Given the description of an element on the screen output the (x, y) to click on. 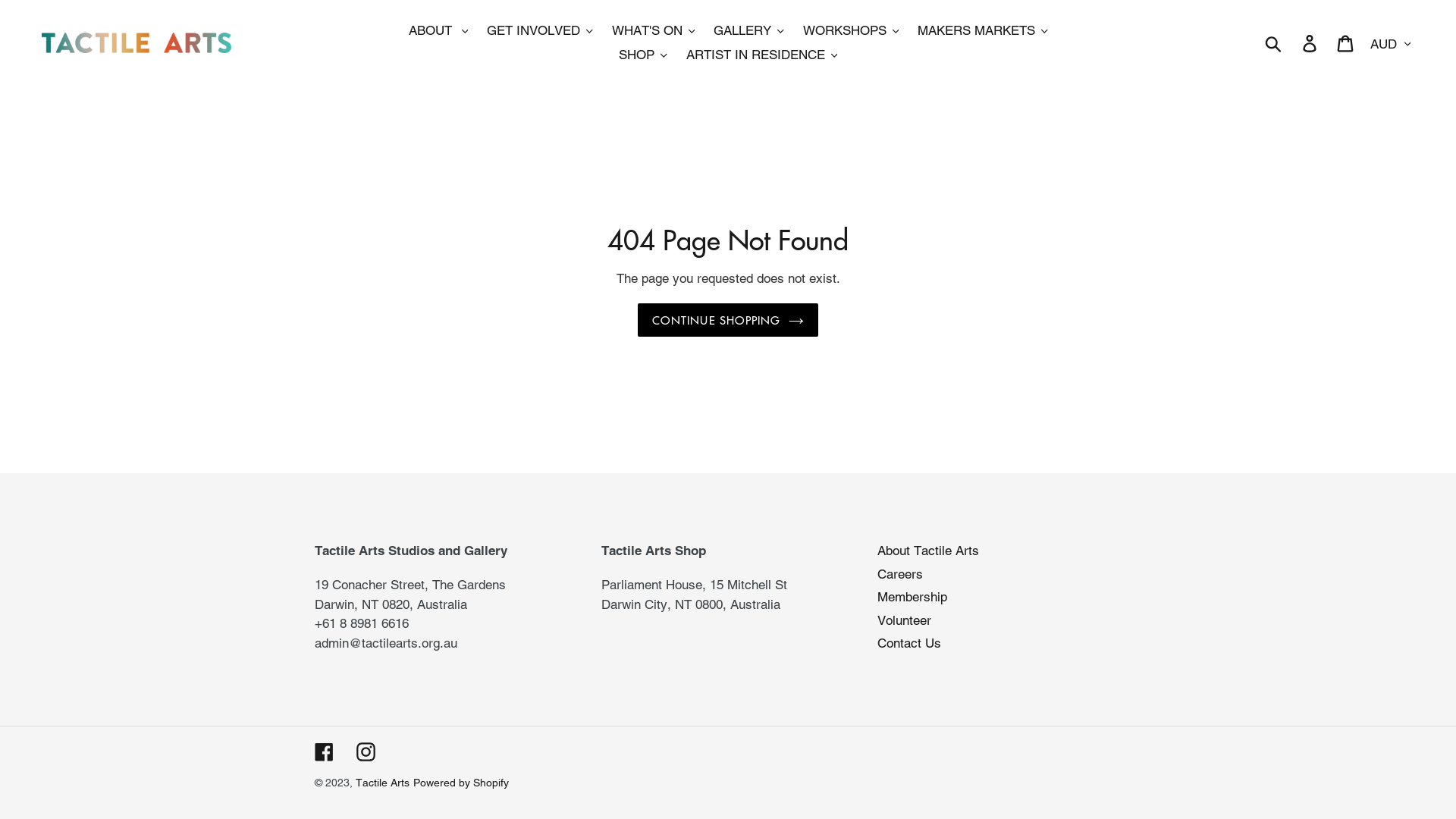
Log in Element type: text (1310, 42)
CONTINUE SHOPPING Element type: text (727, 320)
Cart Element type: text (1346, 42)
Careers Element type: text (899, 573)
Facebook Element type: text (323, 751)
Powered by Shopify Element type: text (460, 782)
Contact Us Element type: text (909, 642)
About Tactile Arts Element type: text (928, 550)
Instagram Element type: text (365, 751)
Volunteer Element type: text (904, 619)
Membership Element type: text (912, 596)
Tactile Arts Element type: text (382, 782)
Submit Element type: text (1273, 42)
